Given the description of an element on the screen output the (x, y) to click on. 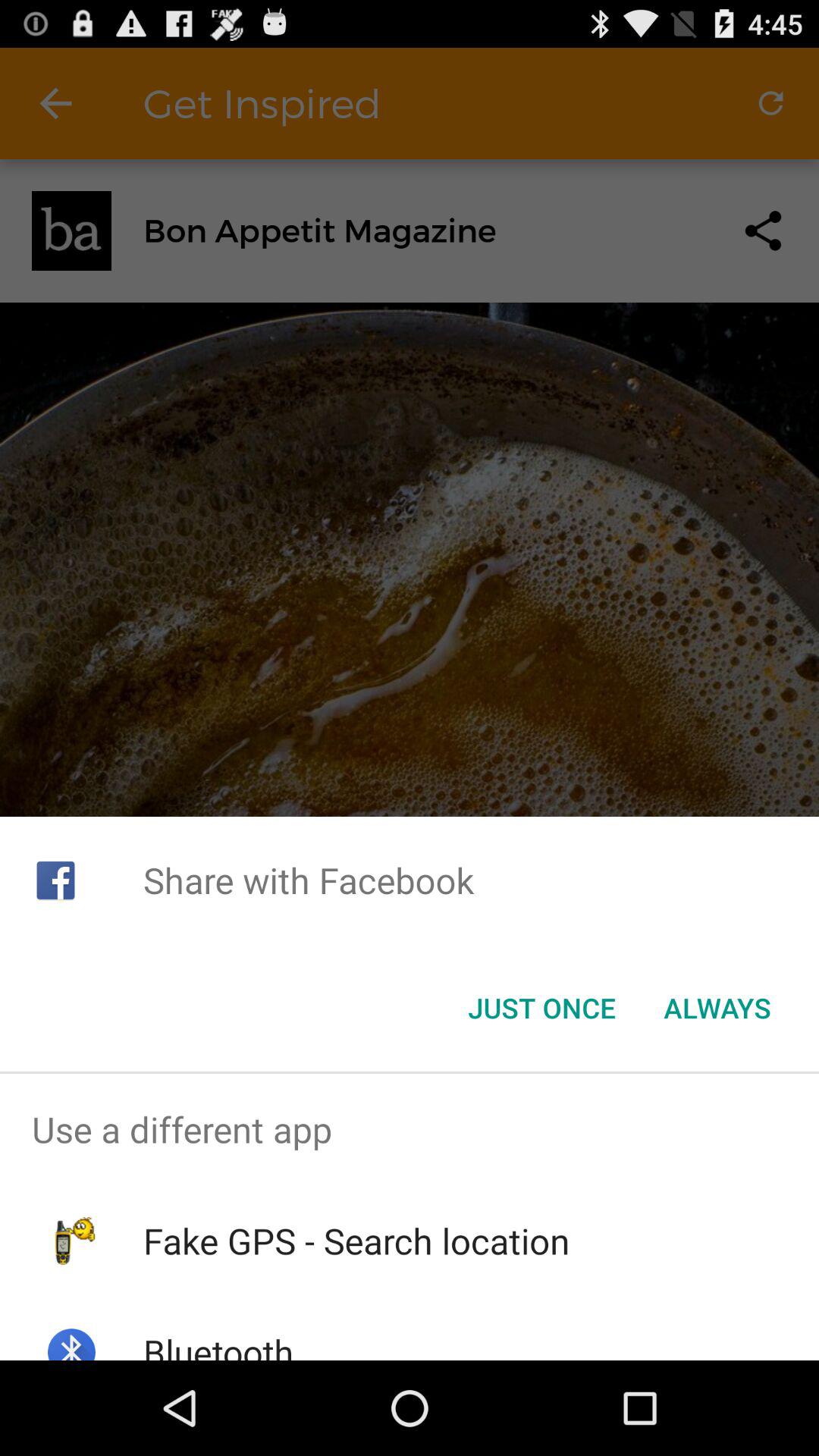
click fake gps search icon (356, 1240)
